Given the description of an element on the screen output the (x, y) to click on. 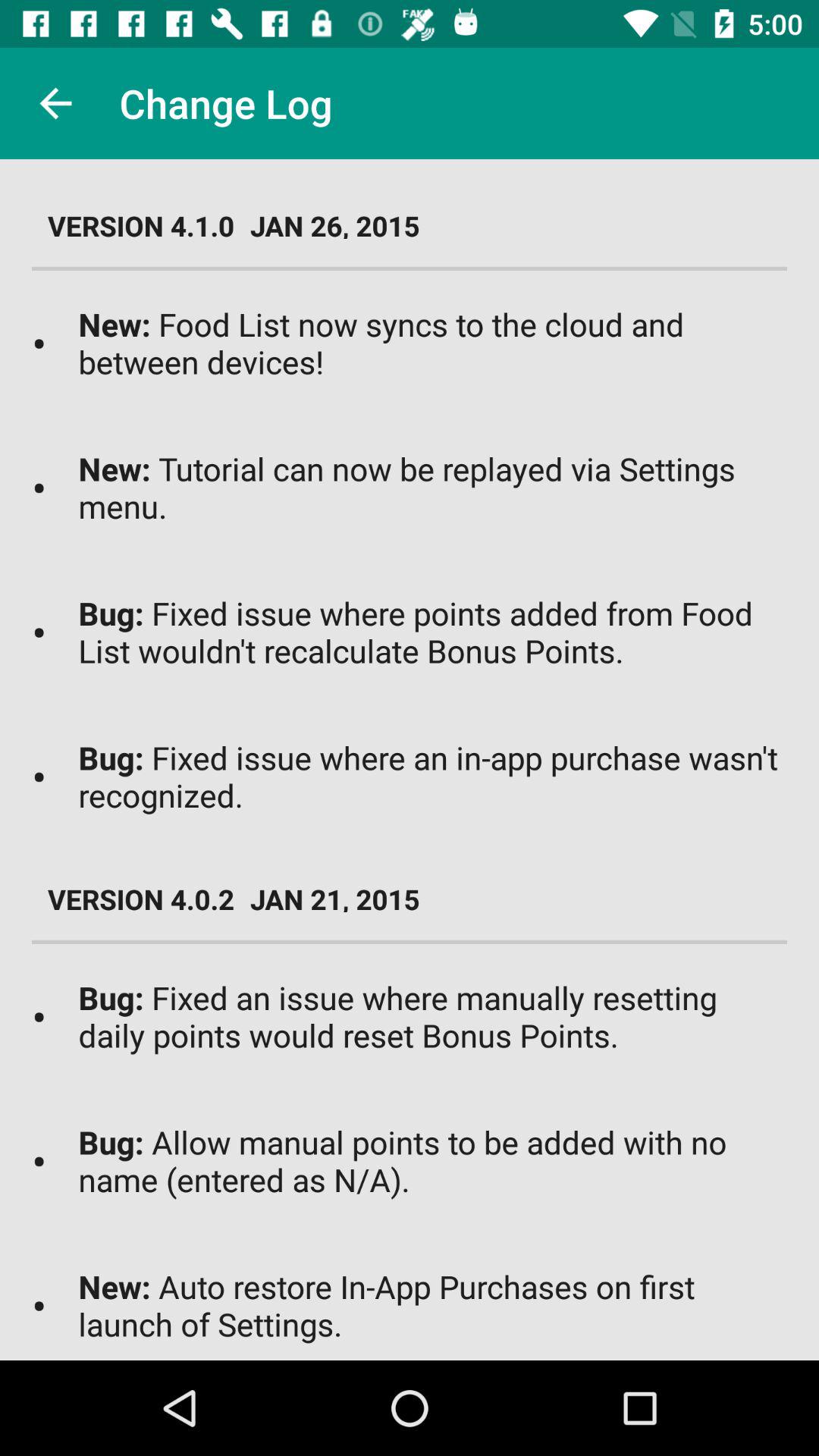
choose the app above the version 4 1 (55, 103)
